Given the description of an element on the screen output the (x, y) to click on. 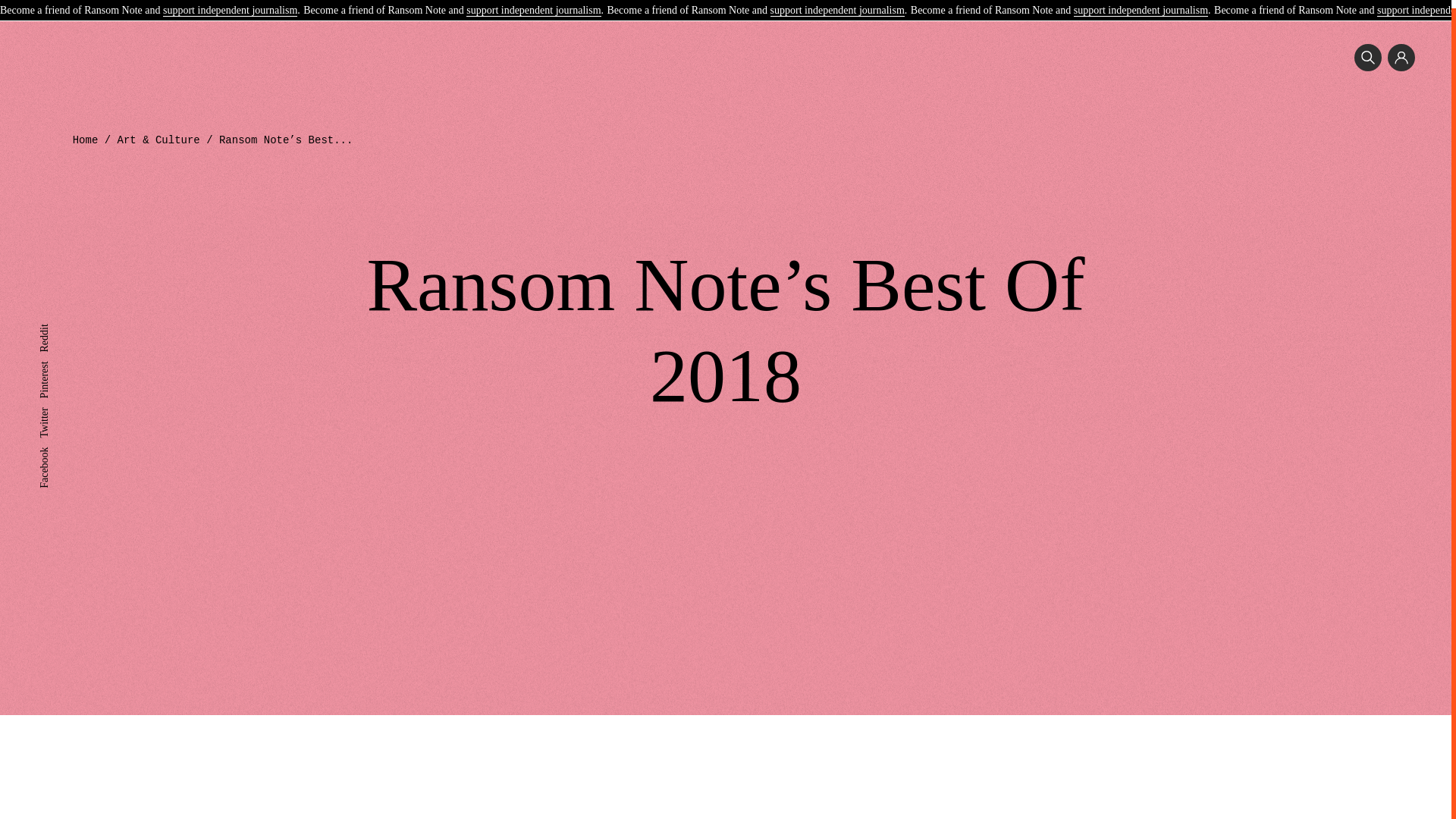
support independent journalism (837, 4)
support independent journalism (532, 4)
support independent journalism (230, 4)
Twitter (53, 404)
Reddit (52, 321)
Home (85, 140)
Pinterest (57, 358)
Facebook (59, 444)
support independent journalism (1141, 4)
